Given the description of an element on the screen output the (x, y) to click on. 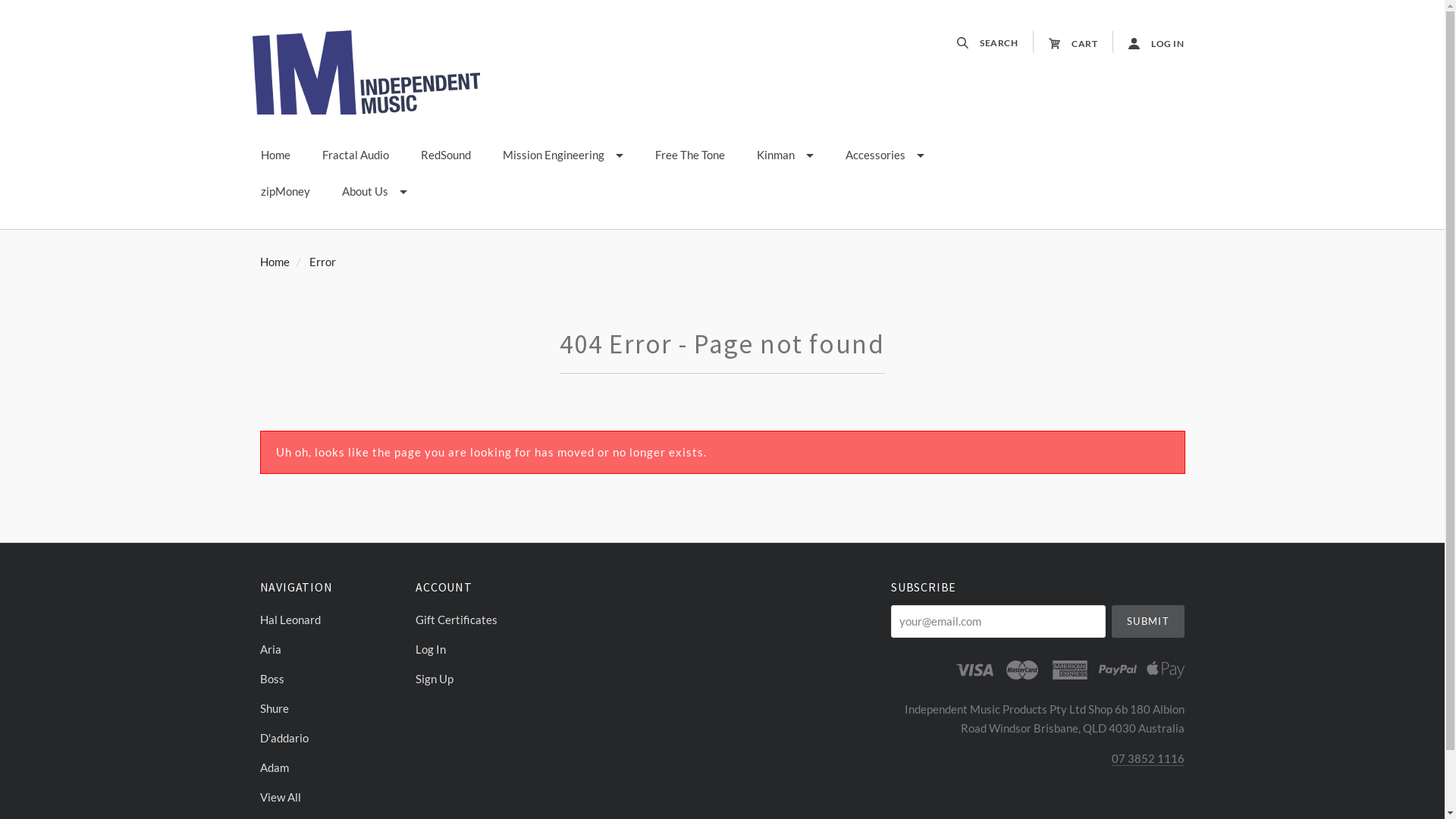
LOG IN Element type: text (1148, 42)
Adam Element type: text (330, 767)
CART Element type: text (1072, 42)
Aria Element type: text (330, 649)
Shure Element type: text (330, 708)
Free The Tone Element type: text (689, 155)
zipMoney Element type: text (284, 191)
Mission Engineering Element type: text (562, 155)
Fractal Audio Element type: text (355, 155)
View All Element type: text (330, 792)
Submit Element type: text (1148, 621)
D'Addario Element type: text (330, 738)
Boss Element type: text (330, 678)
Accessories Element type: text (884, 155)
Gift Certificates Element type: text (486, 619)
Sign Up Element type: text (486, 674)
RedSound Element type: text (445, 155)
Error Element type: text (322, 261)
Kinman Element type: text (784, 155)
About Us Element type: text (374, 191)
Log In Element type: text (486, 649)
07 3852 1116 Element type: text (1147, 758)
Hal Leonard Element type: text (330, 619)
Home Element type: text (273, 261)
Home Element type: text (274, 155)
SEARCH Element type: text (994, 41)
